Given the description of an element on the screen output the (x, y) to click on. 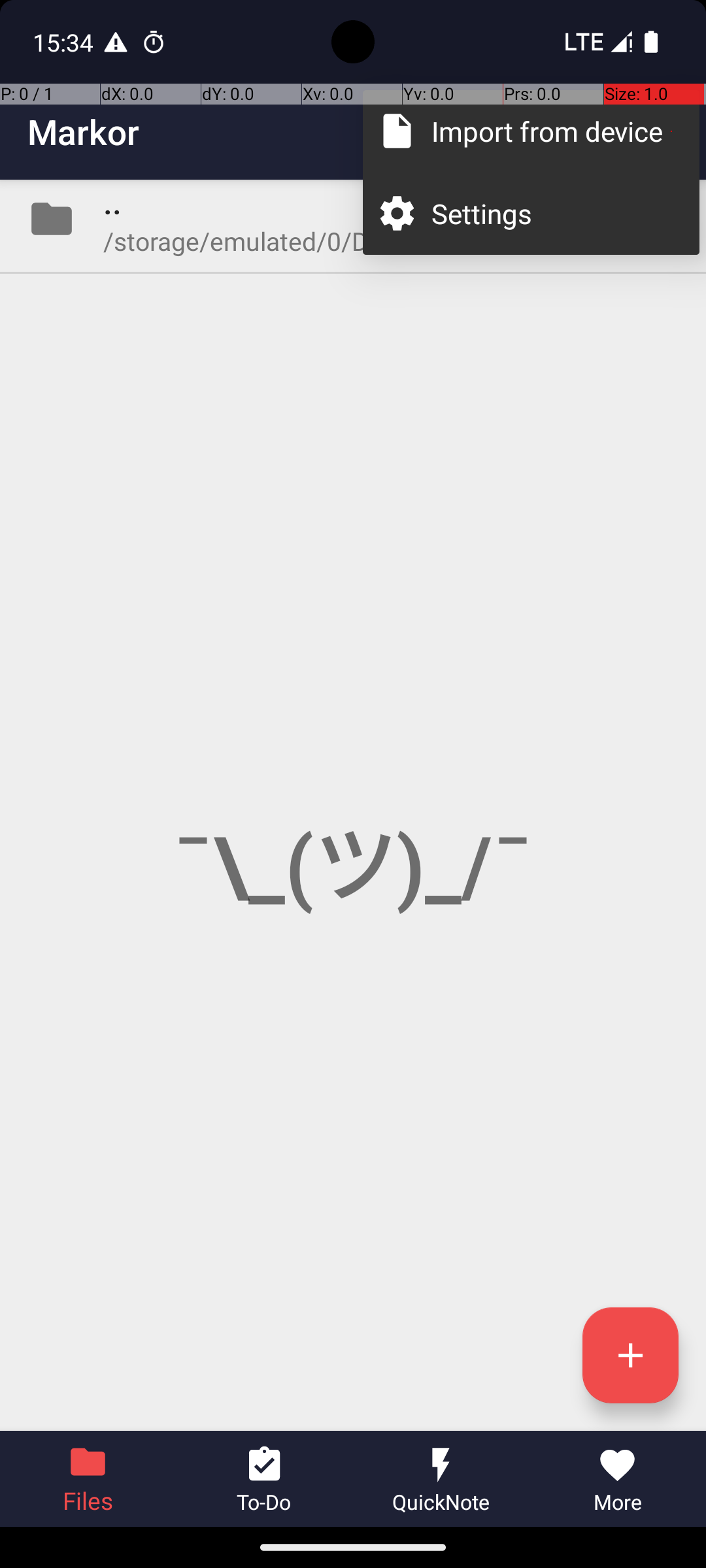
Import from device Element type: android.widget.TextView (551, 130)
